Given the description of an element on the screen output the (x, y) to click on. 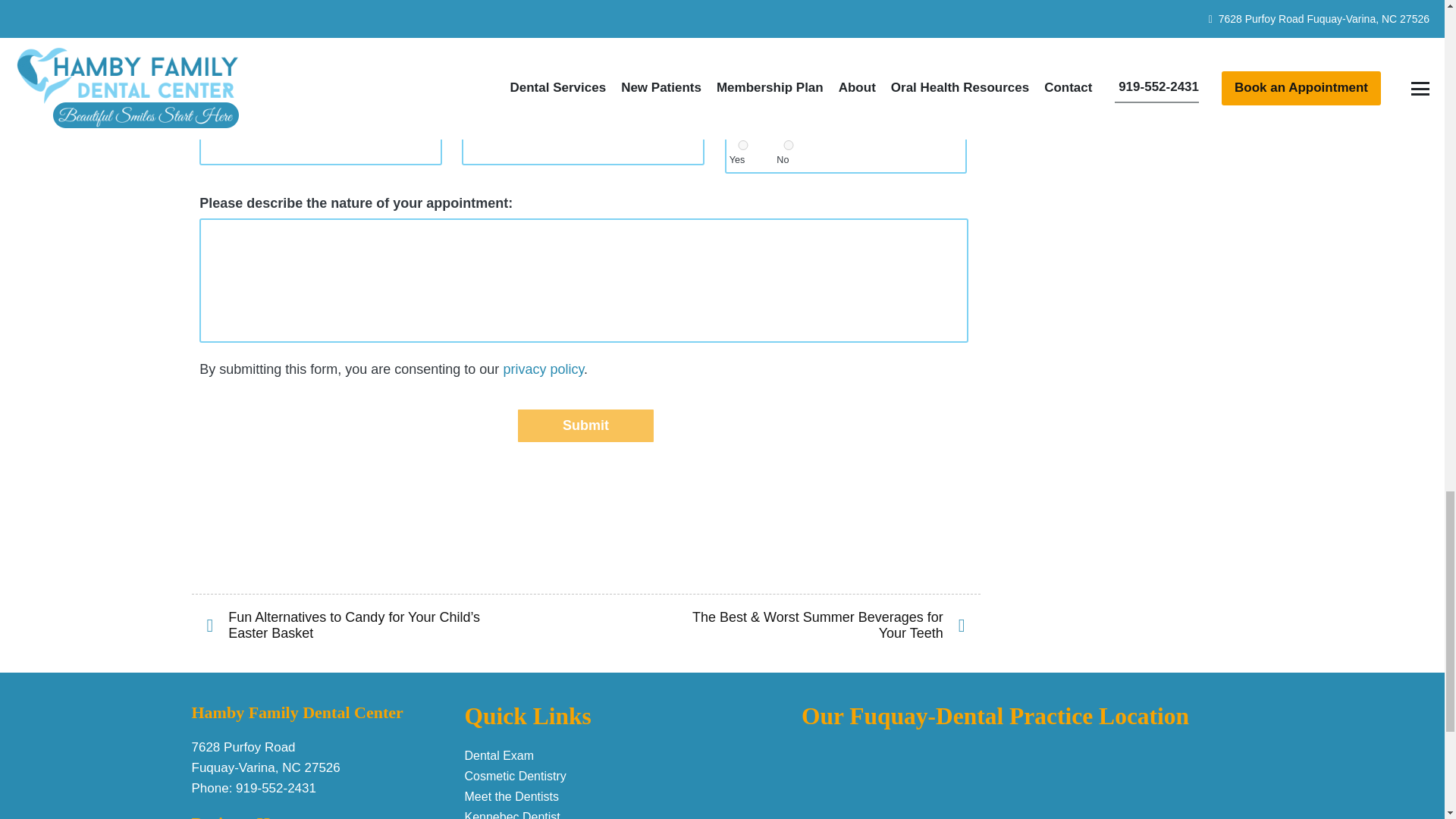
Yes (743, 144)
No (788, 144)
